Given the description of an element on the screen output the (x, y) to click on. 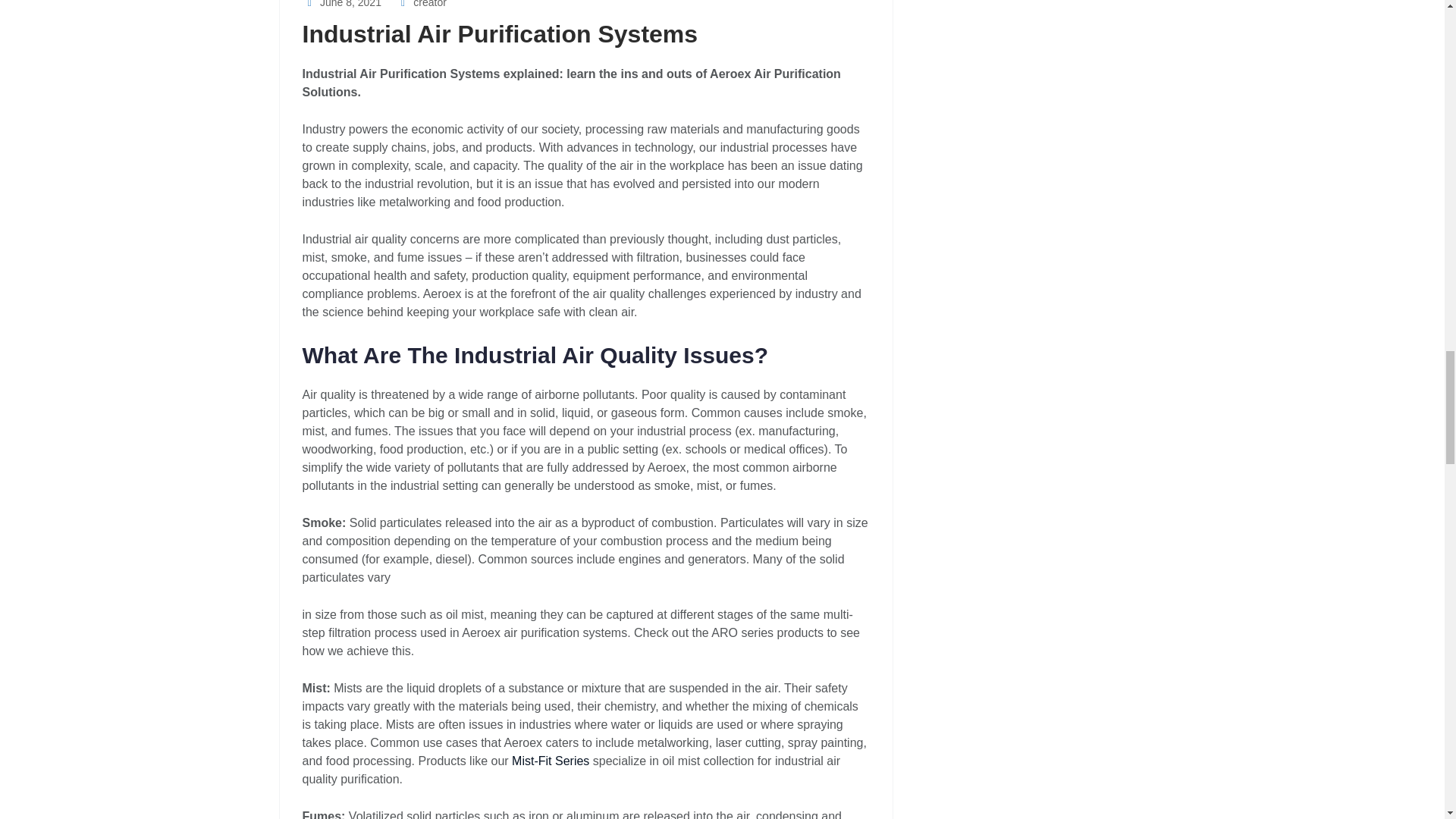
creator (421, 4)
June 8, 2021 (340, 4)
Industrial Air Purification Systems (499, 33)
Posted by creator (421, 4)
